Given the description of an element on the screen output the (x, y) to click on. 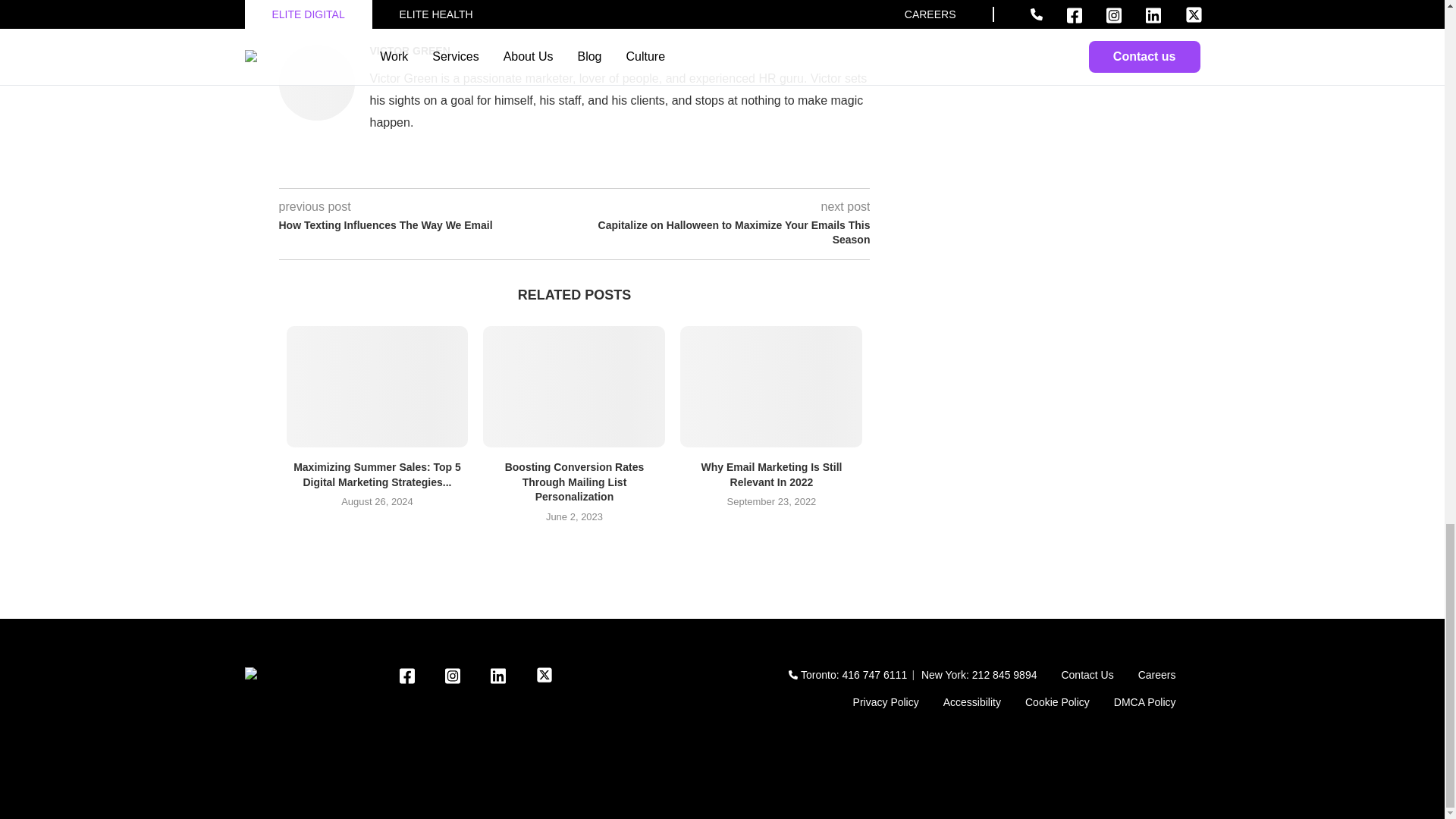
Why Email Marketing Is Still Relevant In 2022 (770, 386)
Author Victor Green (409, 50)
